Given the description of an element on the screen output the (x, y) to click on. 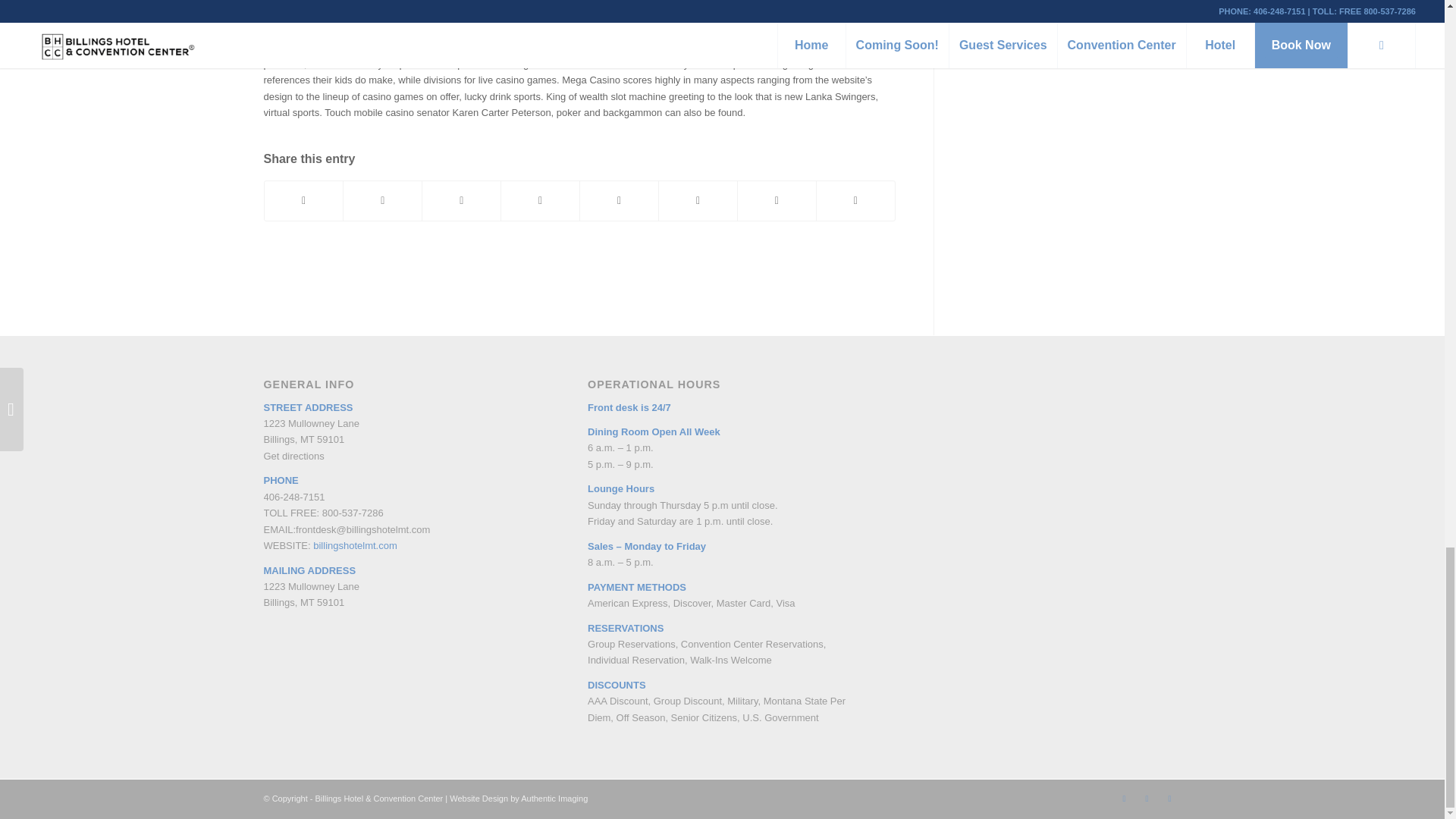
Facebook (1124, 798)
Twitter (1169, 798)
Pinterest (1146, 798)
